Given the description of an element on the screen output the (x, y) to click on. 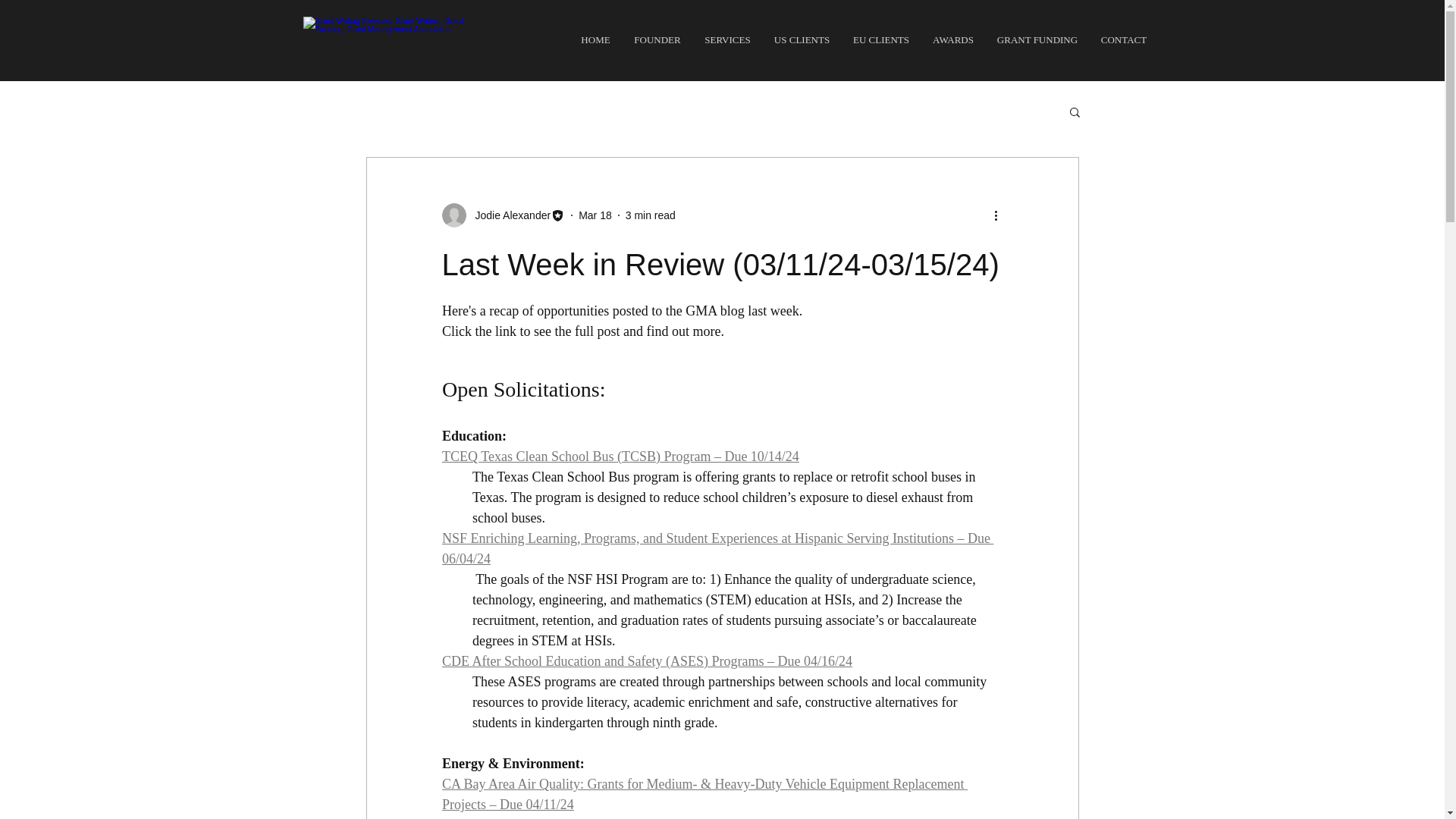
Mar 18 (594, 215)
3 min read (650, 215)
CONTACT (1123, 39)
FOUNDER (657, 39)
HOME (595, 39)
Jodie Alexander (507, 215)
GRANT FUNDING (1037, 39)
EU CLIENTS (881, 39)
AWARDS (952, 39)
